Given the description of an element on the screen output the (x, y) to click on. 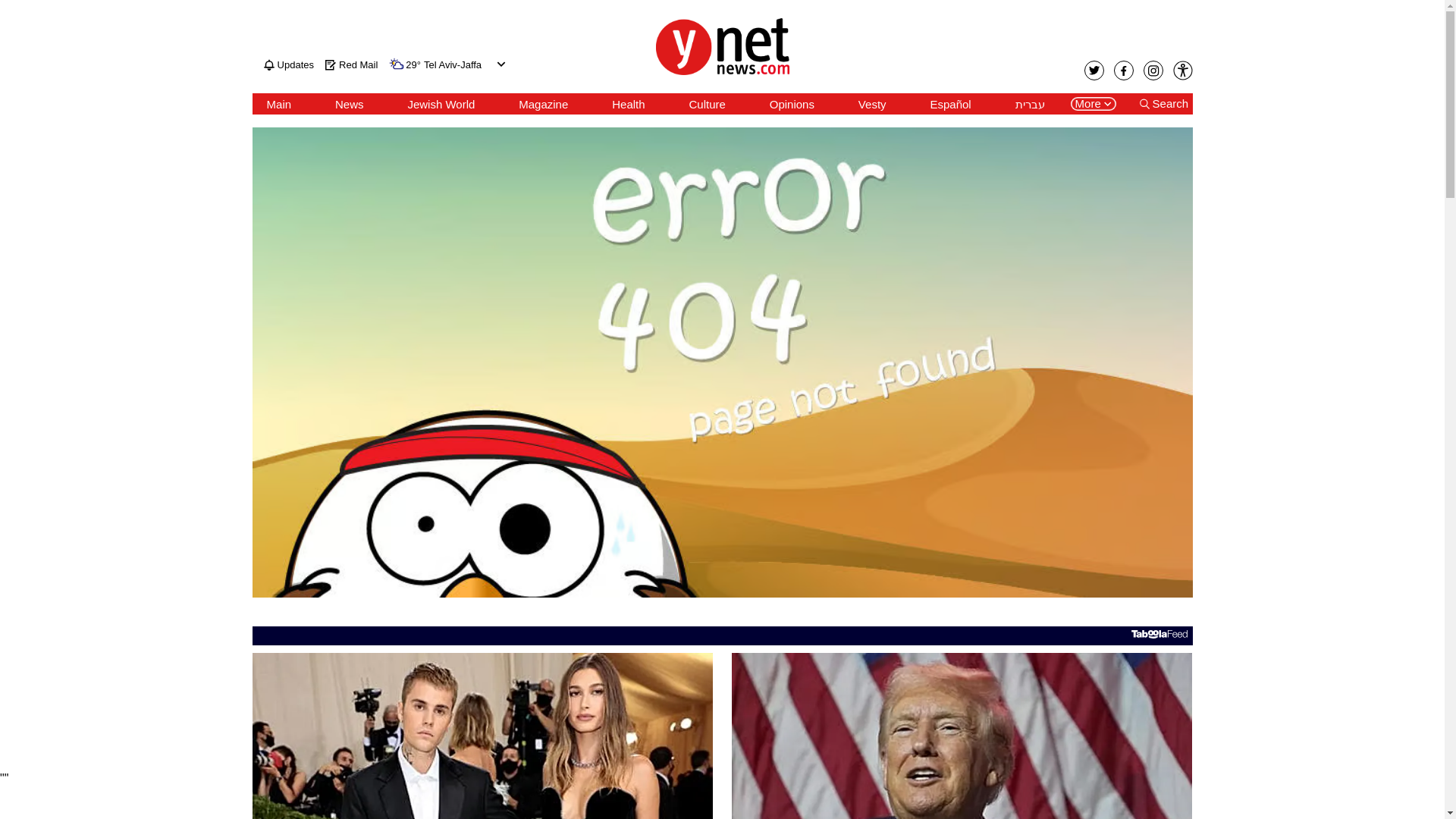
Tel Aviv-Jaffa (452, 65)
News (349, 103)
Red Mail (350, 64)
Main (279, 103)
Culture (706, 103)
Magazine (542, 103)
Updates (288, 64)
Opinions (791, 103)
Health (628, 103)
Jewish World (440, 103)
